Given the description of an element on the screen output the (x, y) to click on. 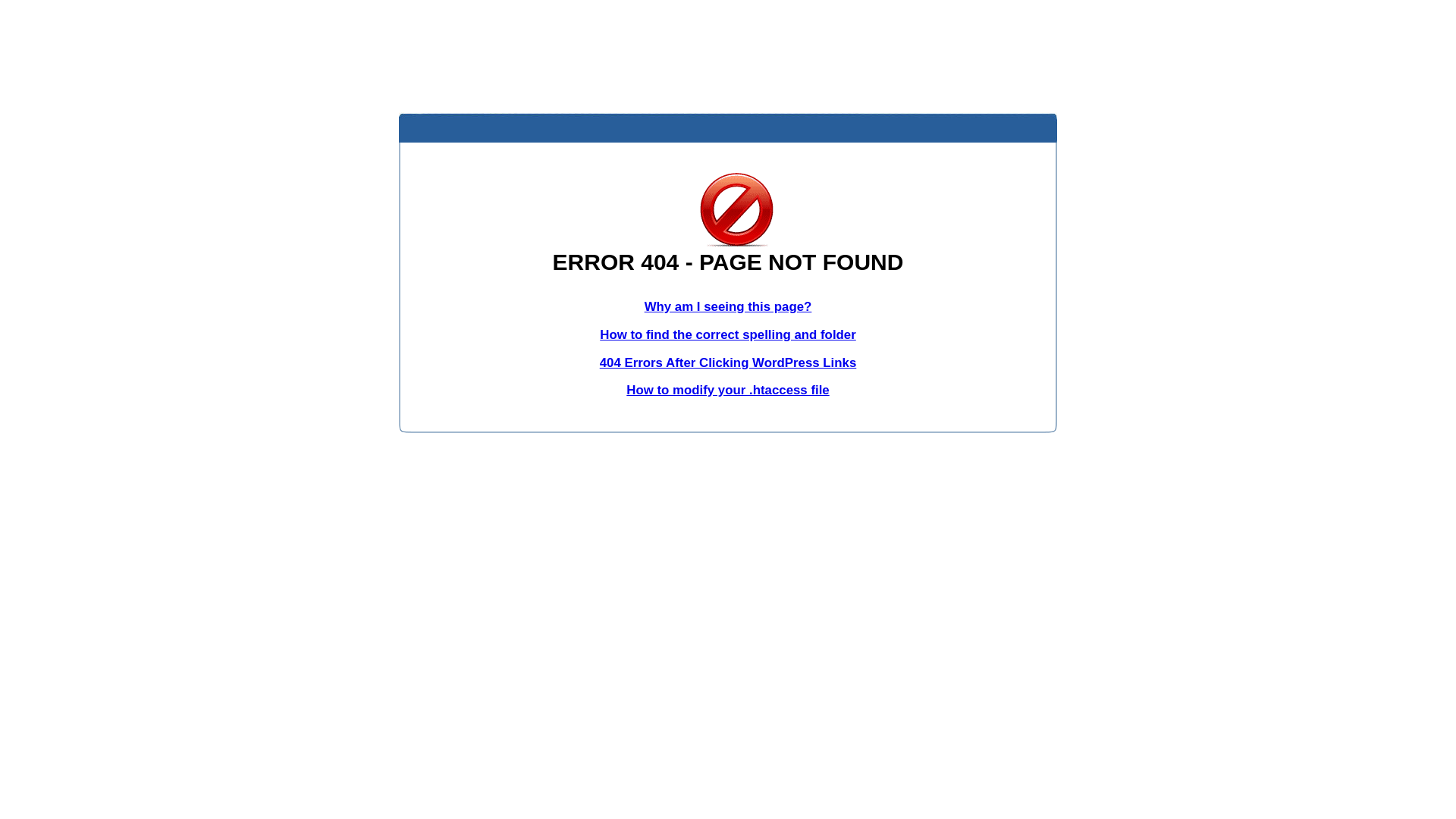
How to modify your .htaccess file Element type: text (727, 389)
404 Errors After Clicking WordPress Links Element type: text (727, 362)
How to find the correct spelling and folder Element type: text (727, 334)
Why am I seeing this page? Element type: text (728, 306)
